Given the description of an element on the screen output the (x, y) to click on. 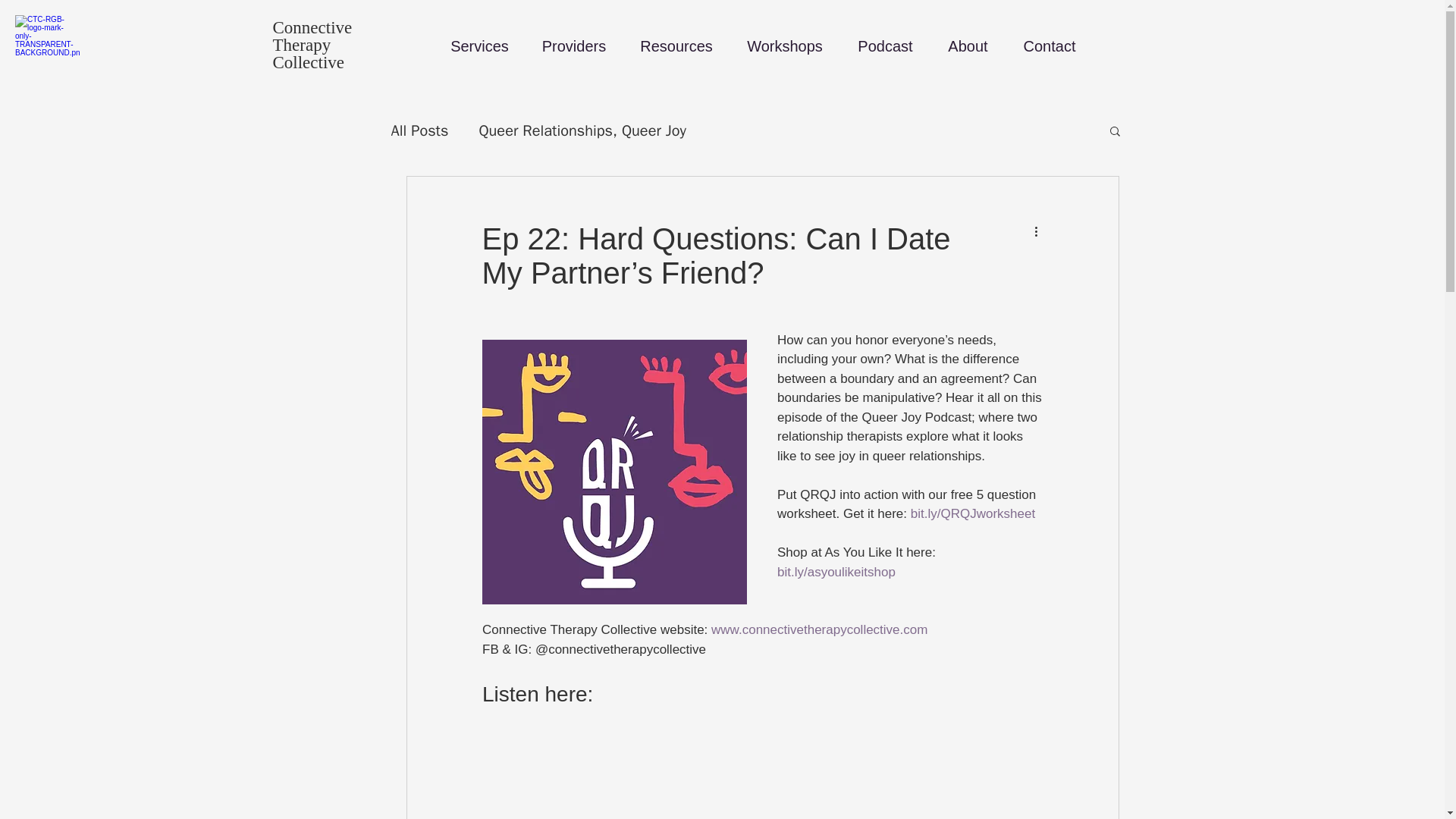
Podcast (885, 45)
Queer Relationships, Queer Joy (582, 129)
www.connectivetherapycollective.com (819, 629)
Providers (573, 45)
All Posts (419, 129)
